Given the description of an element on the screen output the (x, y) to click on. 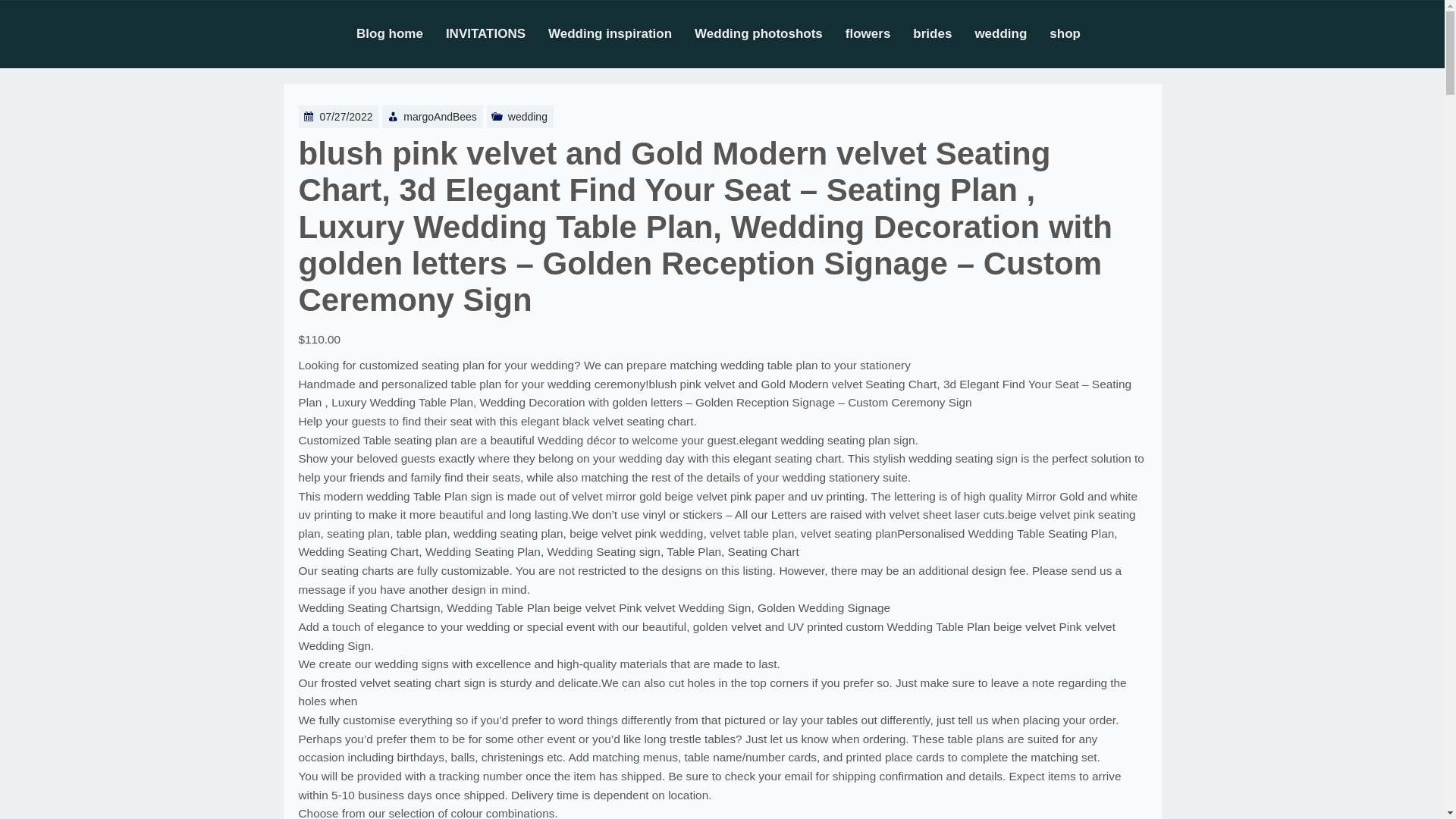
wedding (527, 116)
INVITATIONS (496, 33)
flowers (879, 33)
Blog home (400, 33)
margoAndBees (440, 116)
Wedding photoshots (769, 33)
brides (943, 33)
wedding (1011, 33)
shop (1076, 33)
Wedding inspiration (621, 33)
